Given the description of an element on the screen output the (x, y) to click on. 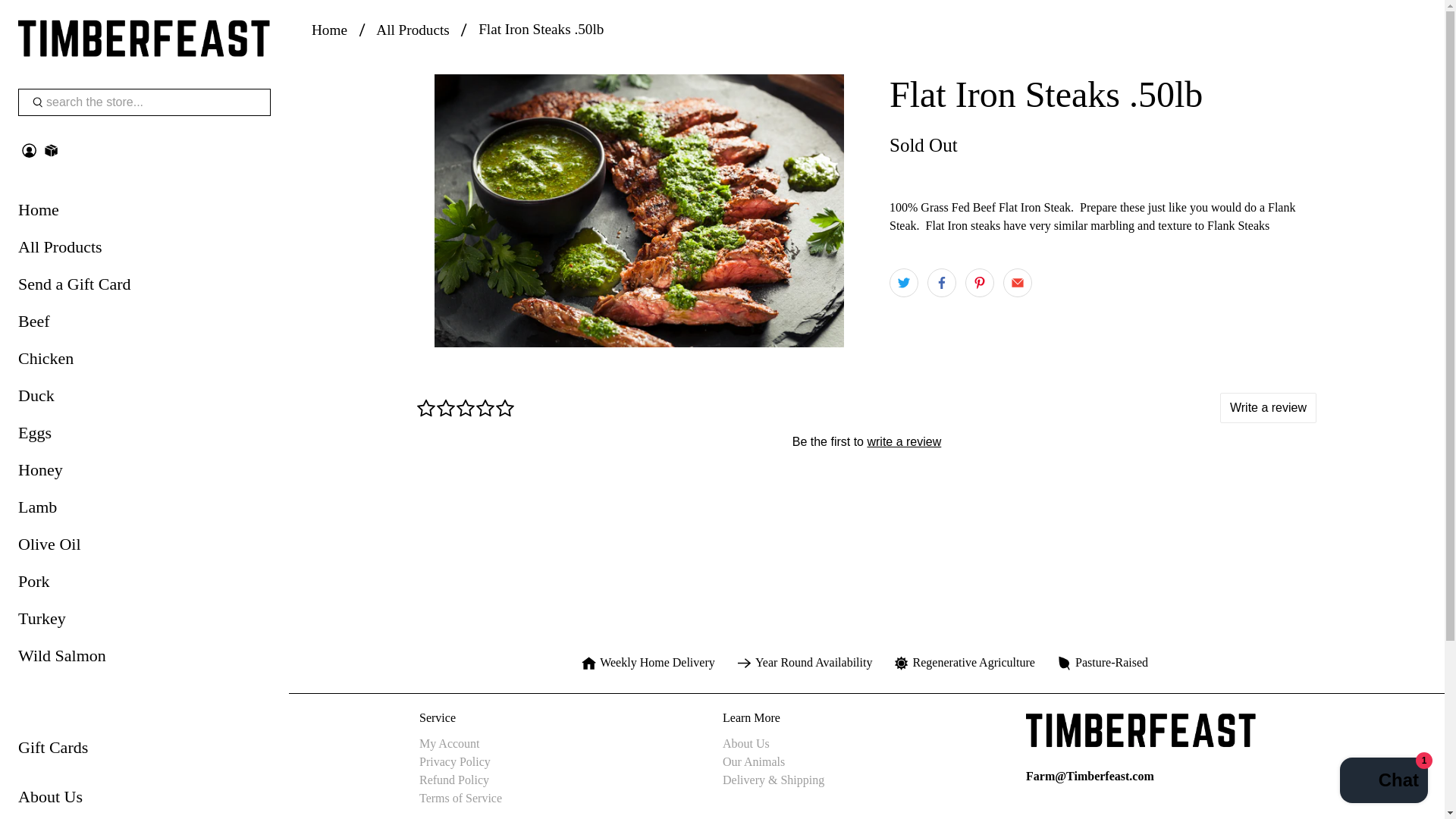
Share this on Pinterest (979, 282)
Timberfeast (1141, 738)
Timberfeast (143, 38)
Chicken (143, 364)
Shopify online store chat (1383, 781)
All Products (143, 252)
Home (143, 215)
Timberfeast (329, 29)
Honey (143, 475)
Gift Cards (143, 753)
Eggs (143, 438)
Product reviews widget (867, 440)
Email this to a friend (1017, 282)
Turkey (143, 624)
Lamb (143, 512)
